Given the description of an element on the screen output the (x, y) to click on. 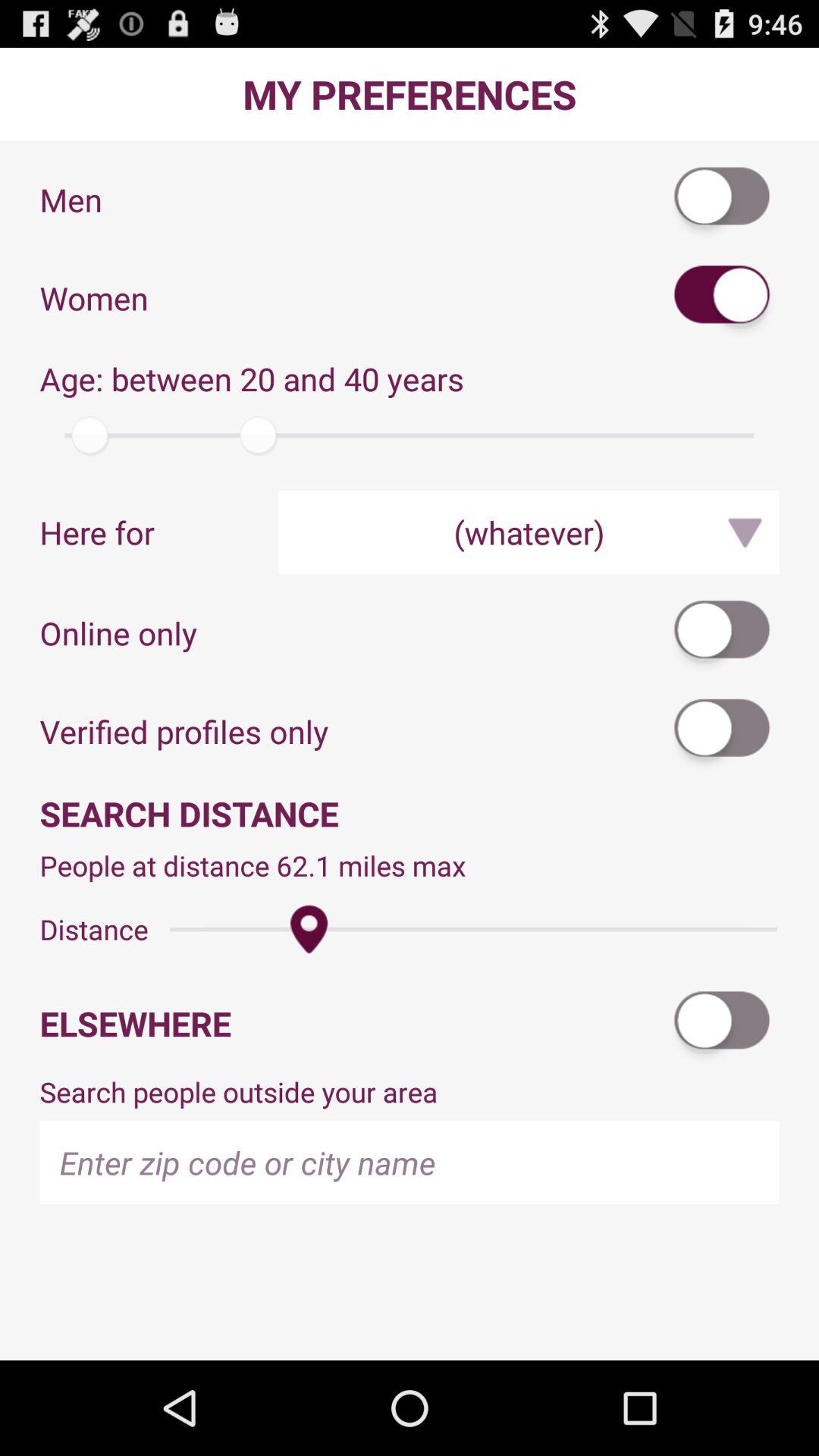
toggle online only option (722, 632)
